Given the description of an element on the screen output the (x, y) to click on. 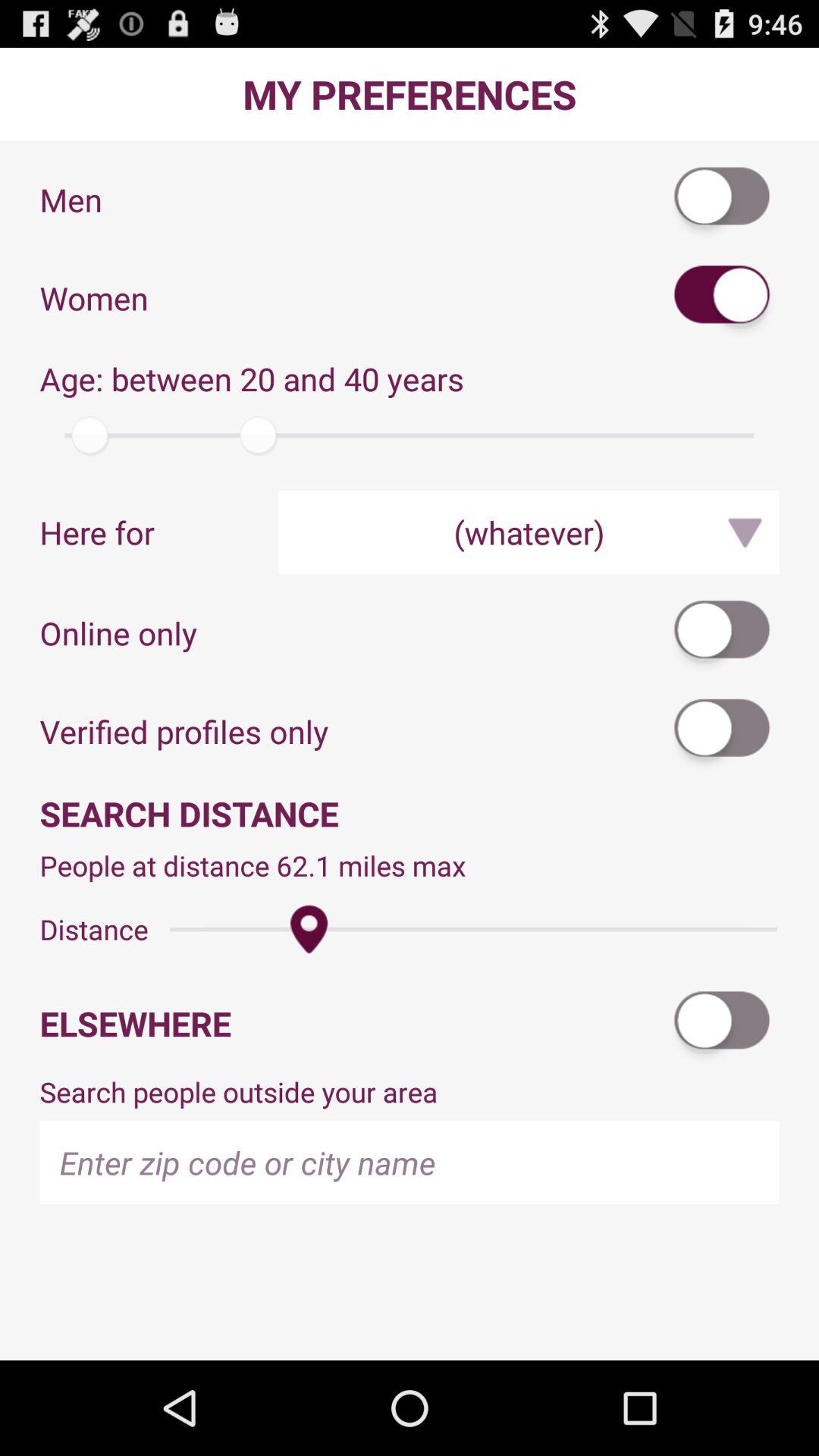
toggle online only option (722, 632)
